Given the description of an element on the screen output the (x, y) to click on. 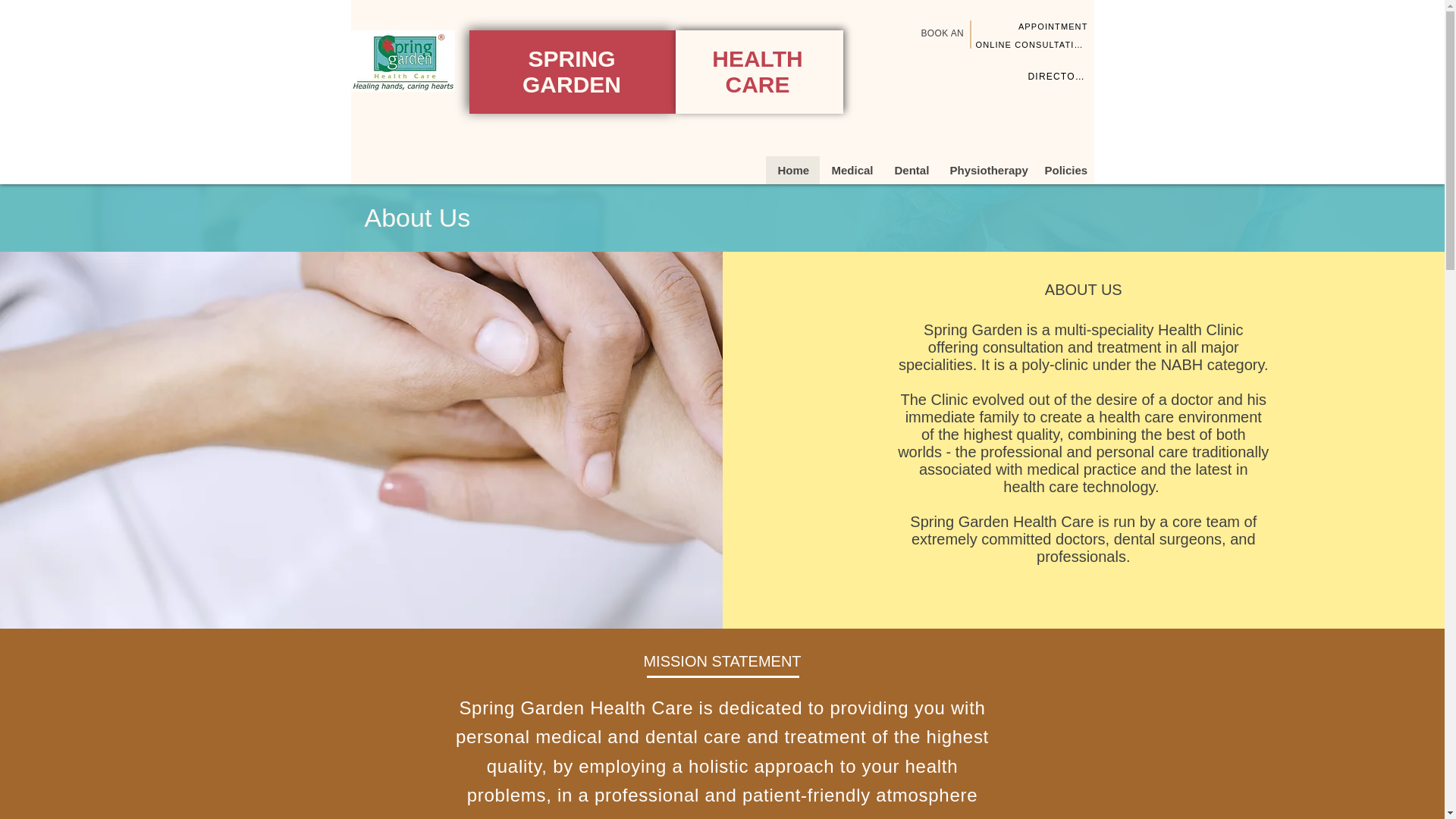
Home (792, 170)
Dental (909, 170)
DIRECTORY (1058, 75)
Physiotherapy (984, 170)
Medical (850, 170)
APPOINTMENT (1053, 26)
ONLINE CONSULTATION (1032, 44)
